Given the description of an element on the screen output the (x, y) to click on. 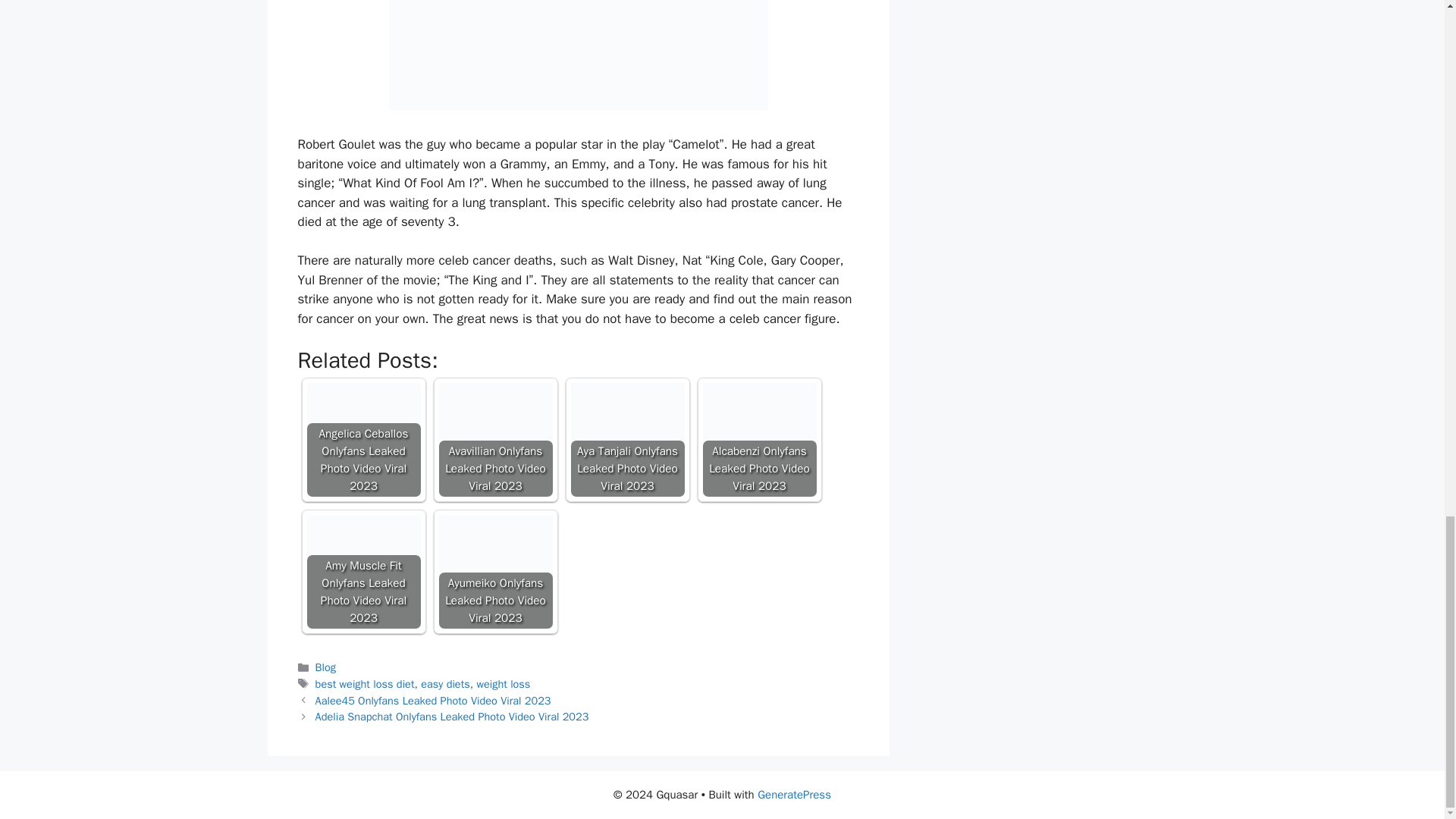
weight loss (502, 684)
Avavillian  Onlyfans Leaked Photo Video Viral 2023 (494, 439)
Aya Tanjali  Onlyfans Leaked Photo Video Viral 2023 (627, 439)
Angelica Ceballos Onlyfans Leaked Photo Video Viral 2023 (362, 439)
Aalee45 Onlyfans Leaked Photo Video Viral 2023 (433, 700)
GeneratePress (794, 794)
Angelica Ceballos  Onlyfans Leaked Photo Video Viral 2023 (362, 439)
Ayumeiko Onlyfans Leaked Photo Video Viral 2023 (494, 571)
best weight loss diet (364, 684)
Alcabenzi Onlyfans Leaked Photo Video Viral 2023 (758, 439)
Amy Muscle Fit Onlyfans Leaked Photo Video Viral 2023 (362, 571)
easy diets (445, 684)
Adelia Snapchat Onlyfans Leaked Photo Video Viral 2023 (452, 716)
Amy Muscle Fit Onlyfans Leaked Photo Video Viral 2023 (362, 571)
Avavillian Onlyfans Leaked Photo Video Viral 2023 (494, 439)
